Given the description of an element on the screen output the (x, y) to click on. 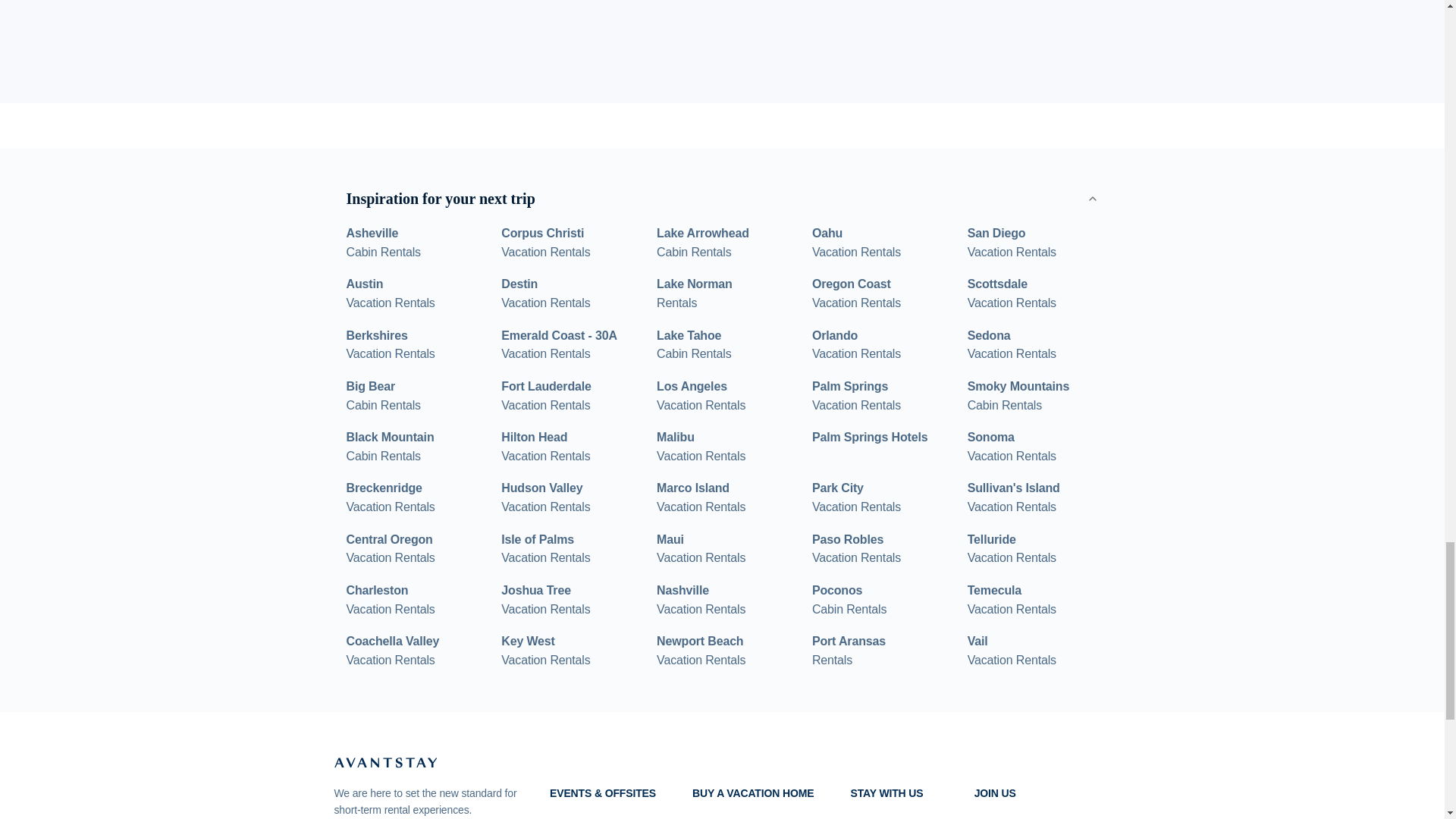
AvantStay Logo (700, 447)
